Given the description of an element on the screen output the (x, y) to click on. 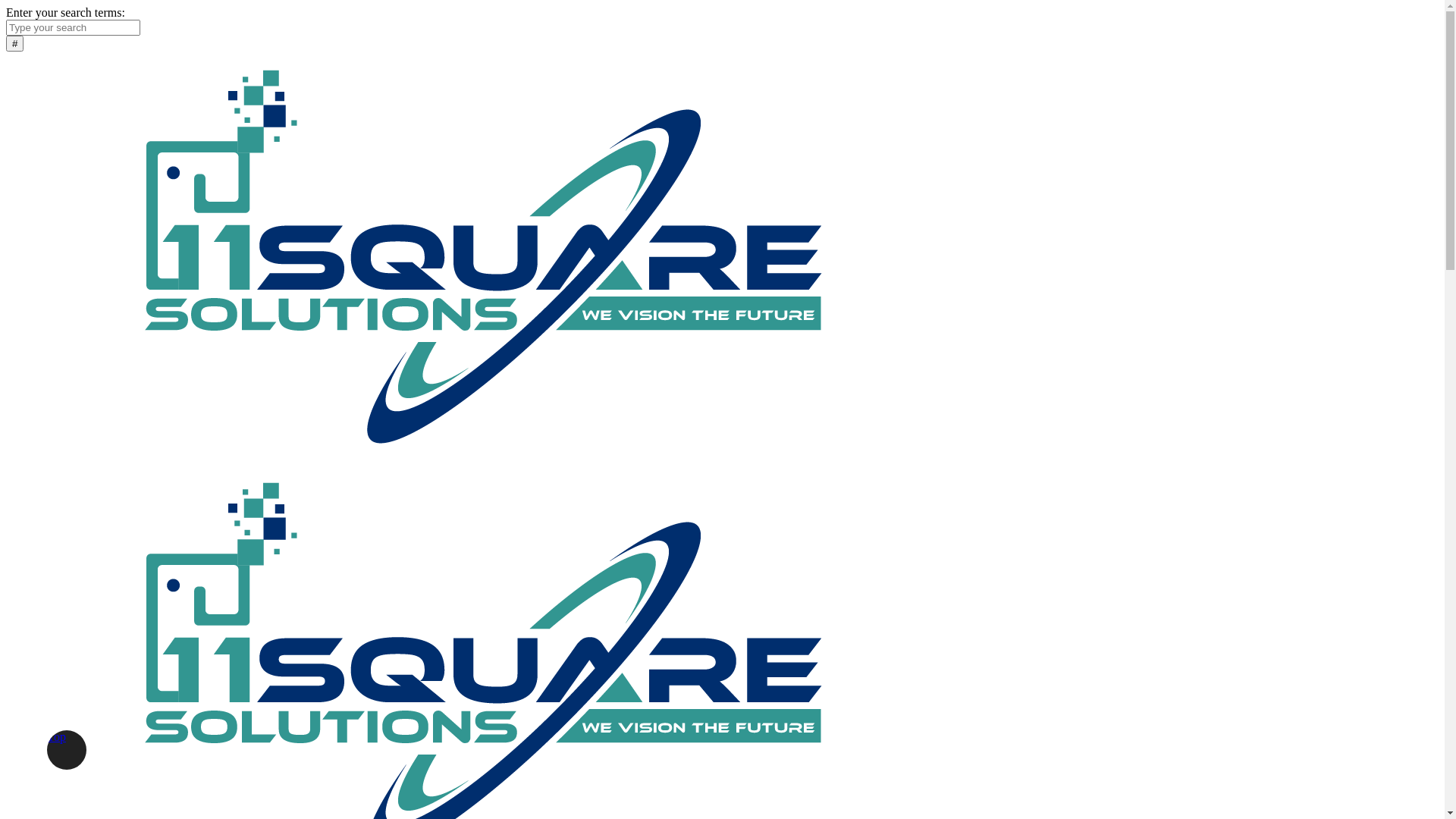
# Element type: text (14, 43)
Top Element type: text (66, 749)
